Given the description of an element on the screen output the (x, y) to click on. 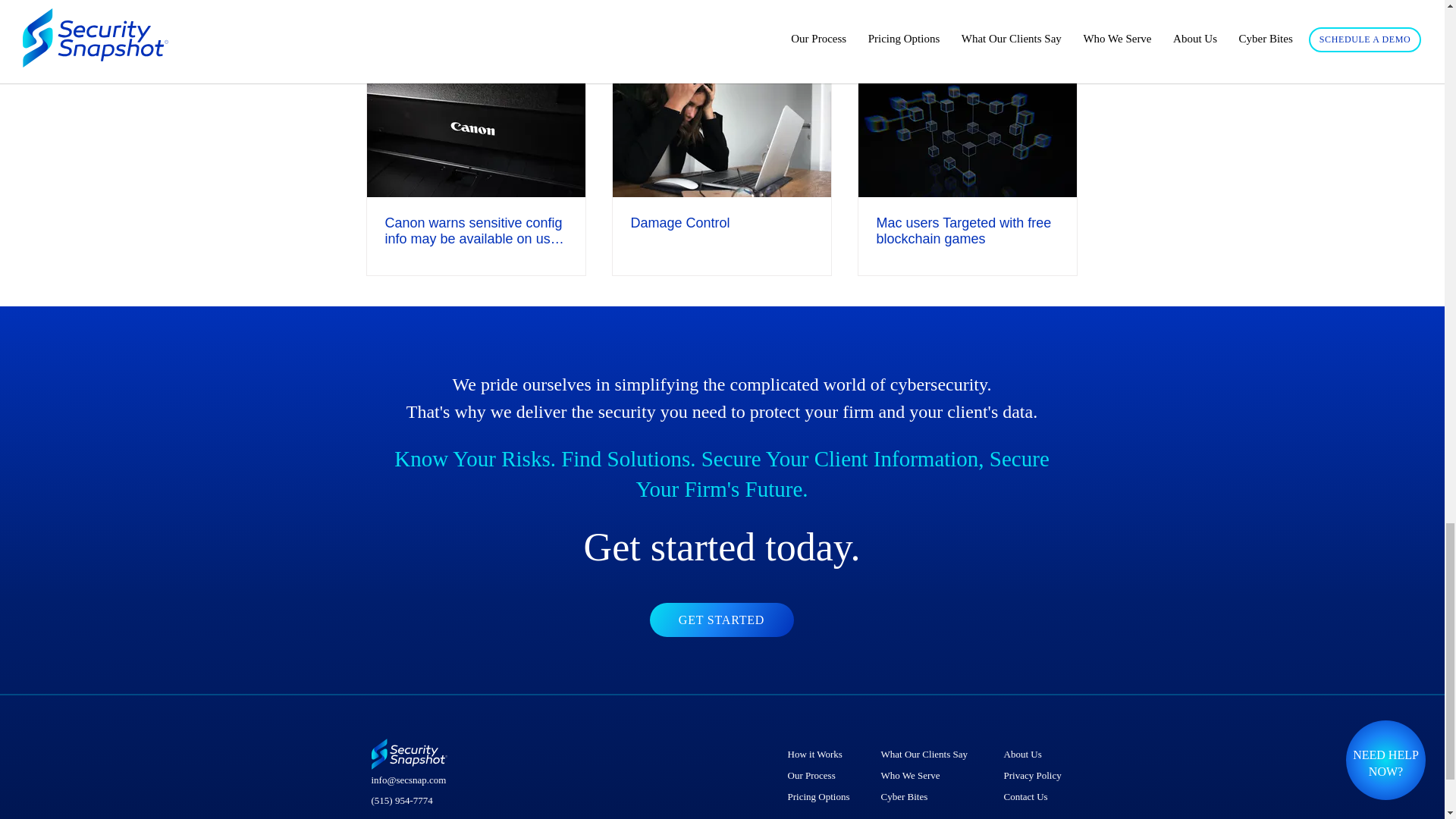
Our Process (819, 775)
See All (1061, 47)
About Us (1033, 753)
Cyber Bites (930, 796)
Privacy Policy (1033, 775)
GET STARTED (721, 619)
Who We Serve (930, 775)
What Our Clients Say (930, 753)
Pricing Options (819, 796)
How it Works (819, 753)
Damage Control (721, 222)
Mac users Targeted with free blockchain games (967, 231)
Contact Us (1033, 796)
